Given the description of an element on the screen output the (x, y) to click on. 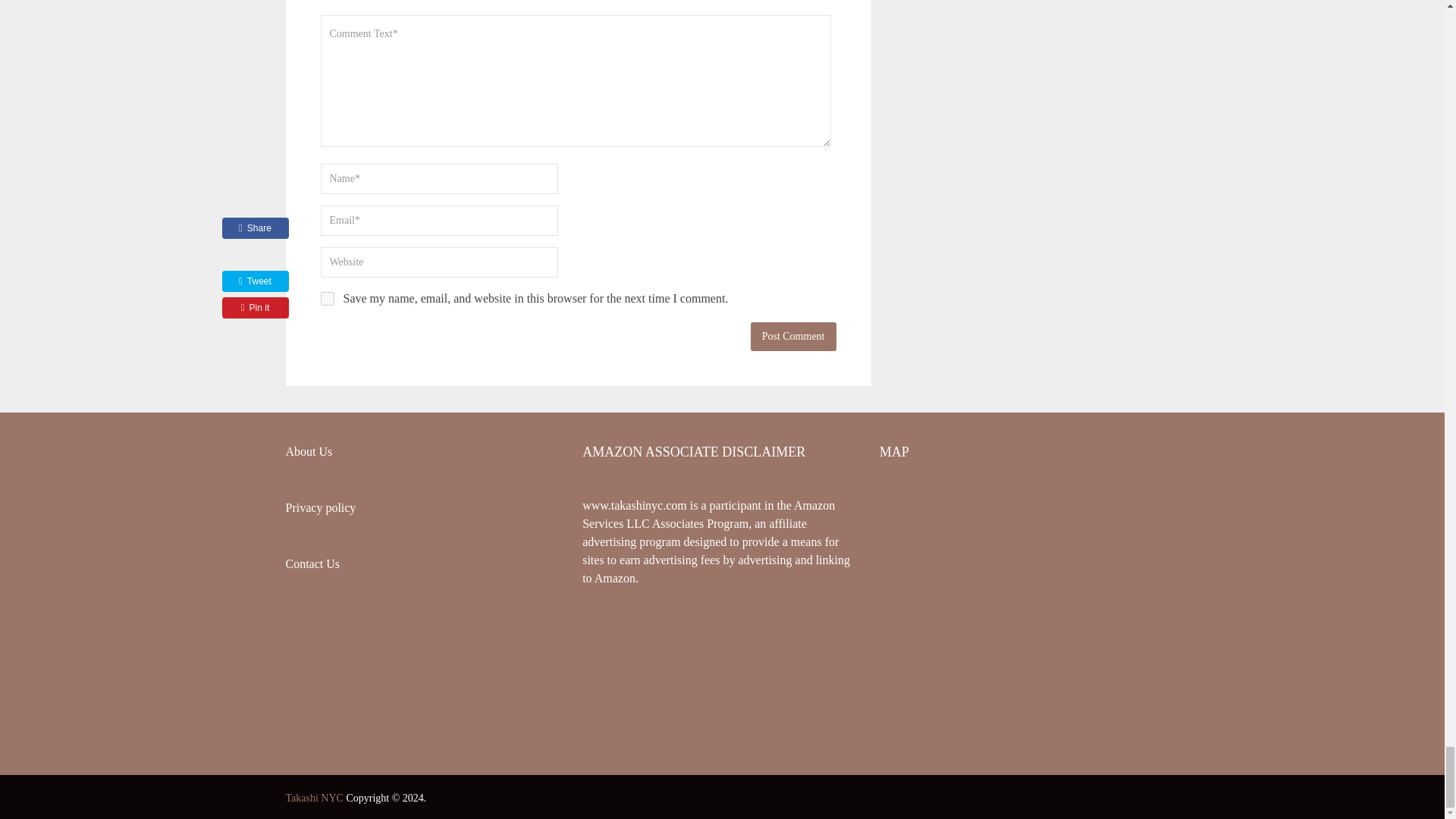
Post Comment (793, 336)
yes (326, 298)
